Given the description of an element on the screen output the (x, y) to click on. 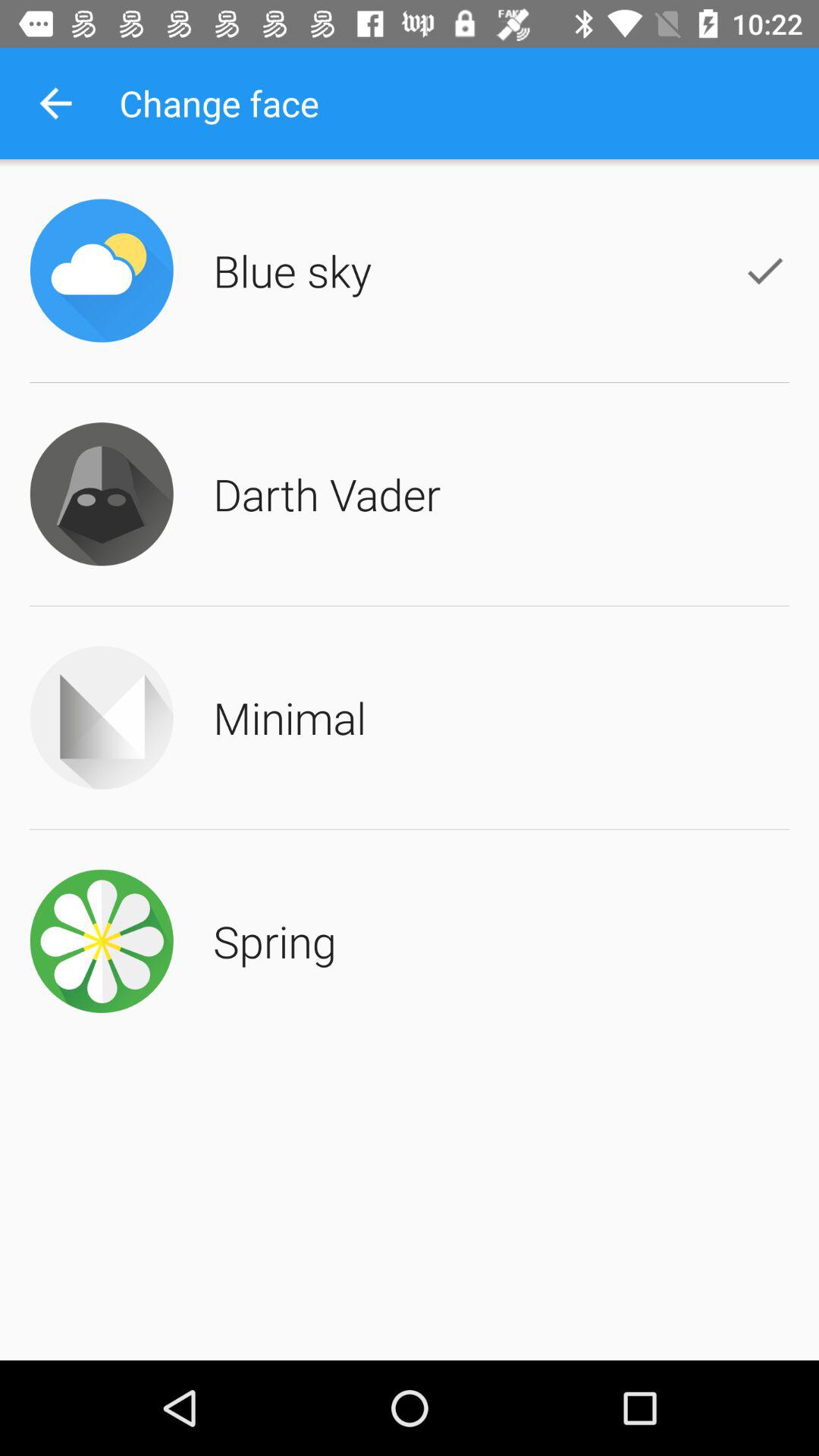
launch the icon to the left of change face app (55, 103)
